Given the description of an element on the screen output the (x, y) to click on. 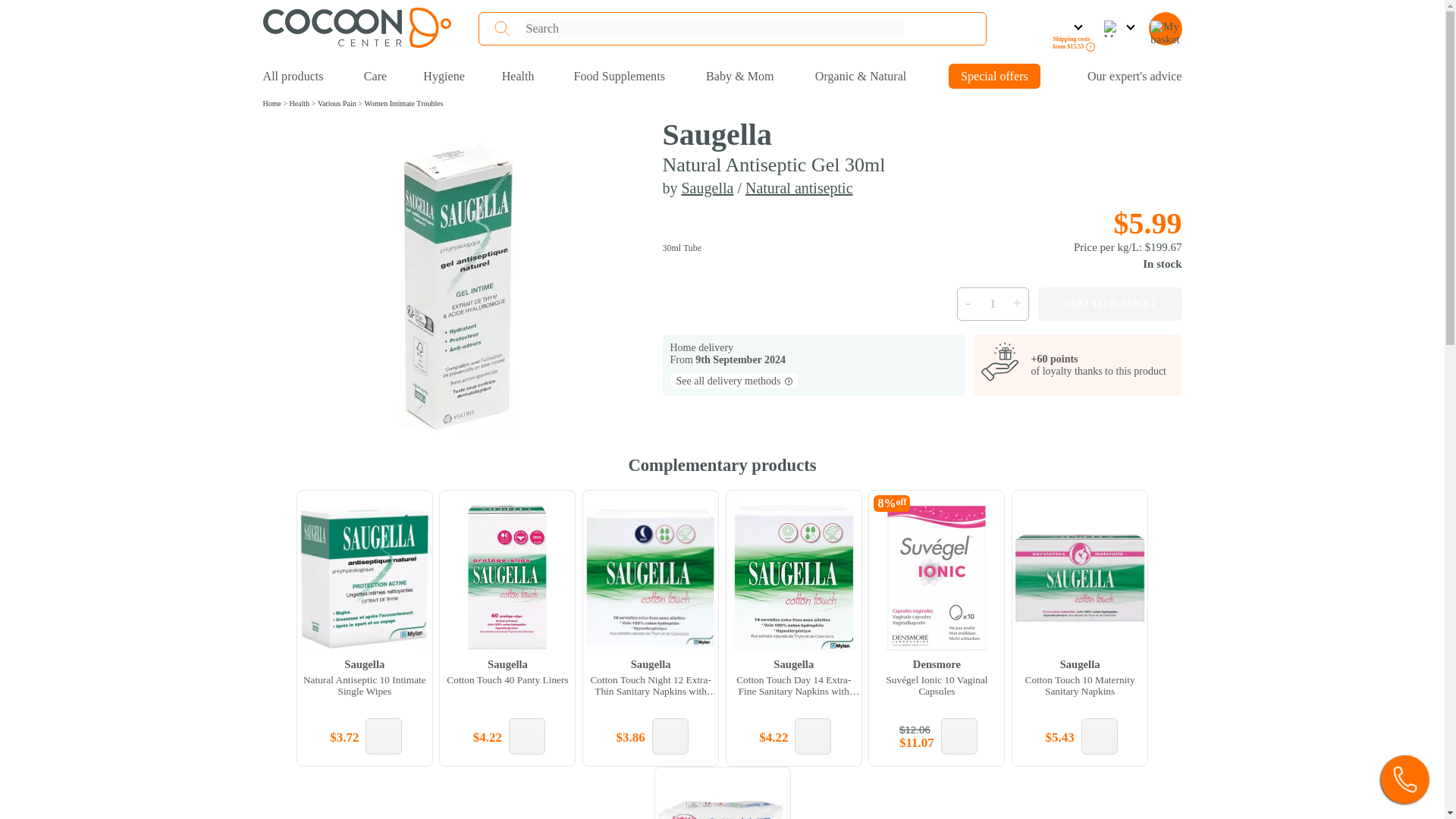
Saugella Natural Antiseptic 10 Intimate Single Wipes (364, 577)
More info on Saugella Cotton Touch 40 Panty Liners (507, 671)
1 (992, 304)
View all Saugella products (707, 187)
View all products in the Saugella Natural antiseptic range (799, 187)
